Given the description of an element on the screen output the (x, y) to click on. 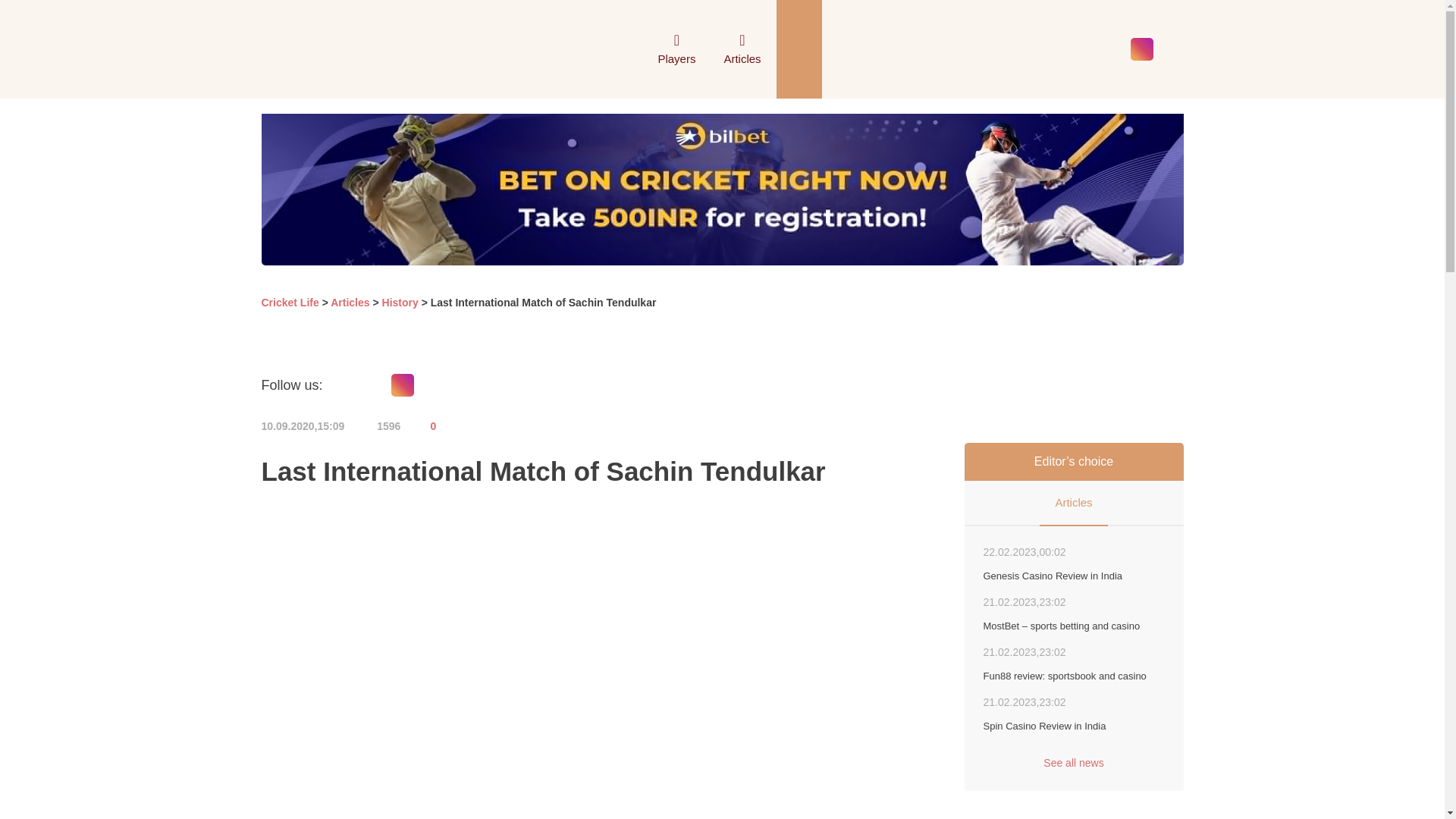
Go to the History Category archives. (400, 302)
Predictions (657, 49)
Timetable (657, 49)
Players (676, 53)
Go to Articles. (349, 302)
Current results (630, 49)
Go to Cricket Life. (289, 302)
News (657, 49)
Series (658, 49)
Teams (658, 49)
Articles (741, 53)
